Given the description of an element on the screen output the (x, y) to click on. 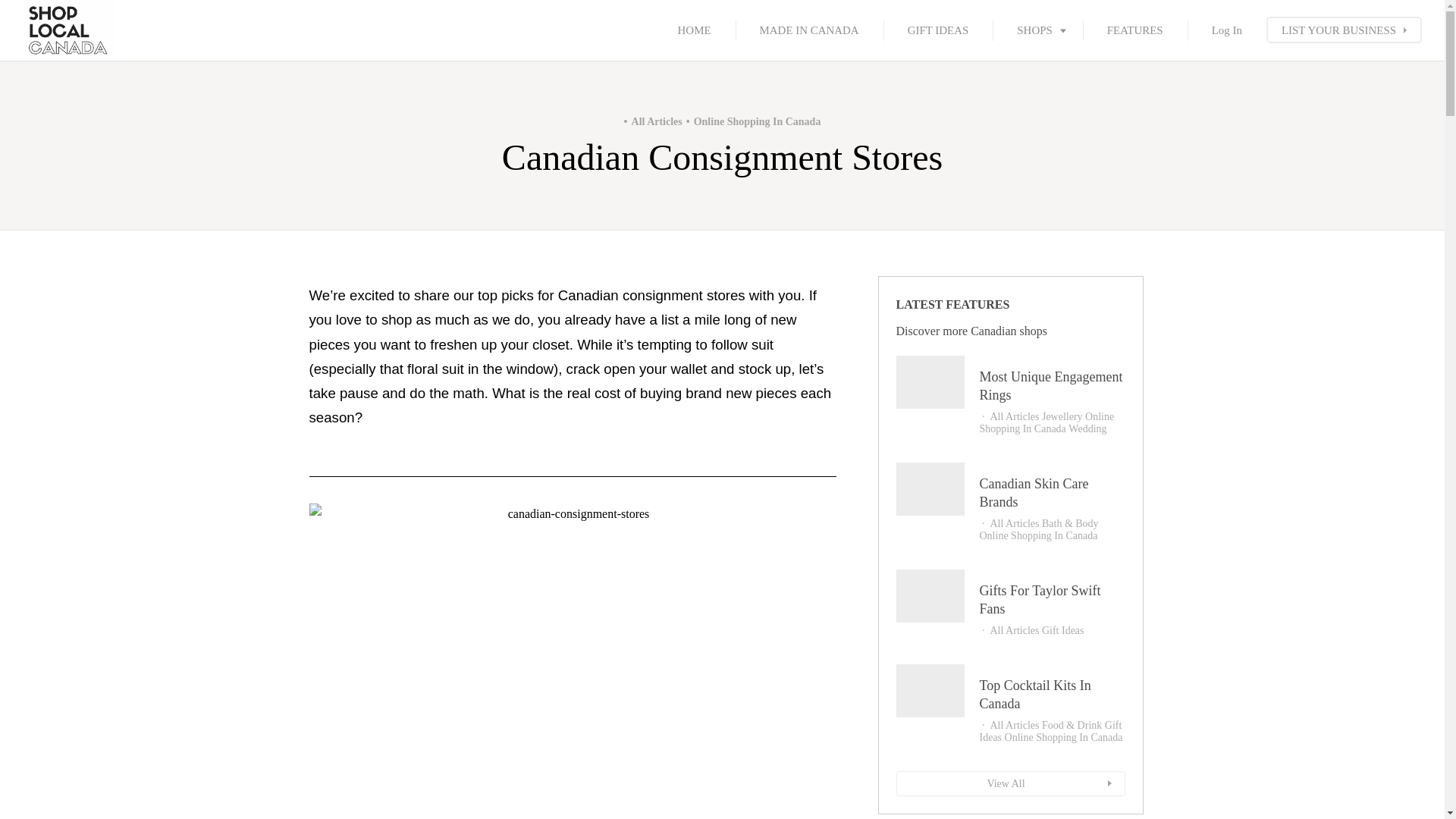
SHOPS (1037, 30)
FEATURES (1135, 30)
LIST YOUR BUSINESS (1344, 29)
MADE IN CANADA (809, 30)
All Articles (653, 121)
HOME (694, 30)
Log In (1227, 30)
Online Shopping In Canada (751, 121)
GIFT IDEAS (937, 30)
